Given the description of an element on the screen output the (x, y) to click on. 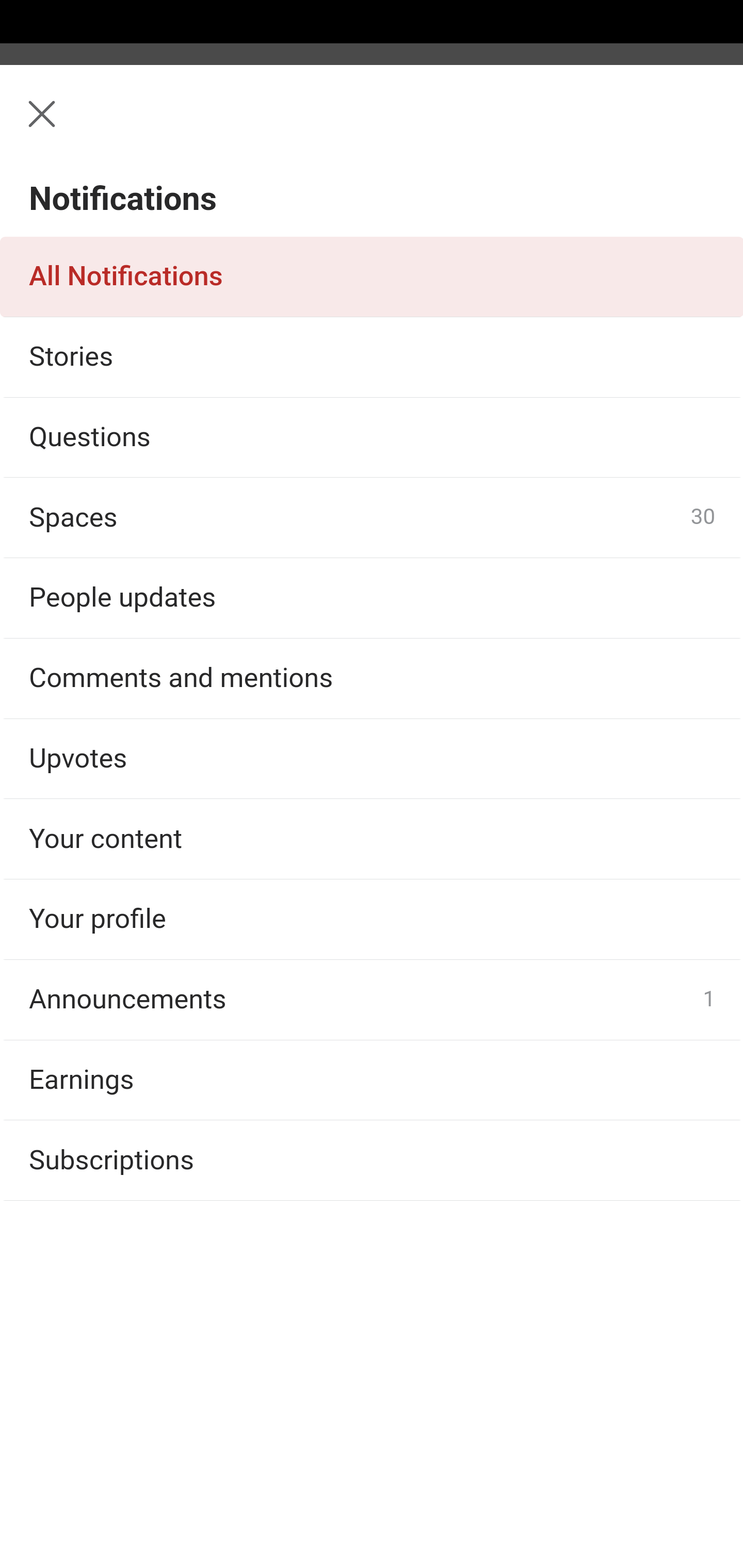
Me (64, 125)
Mark All As Read (135, 213)
